Given the description of an element on the screen output the (x, y) to click on. 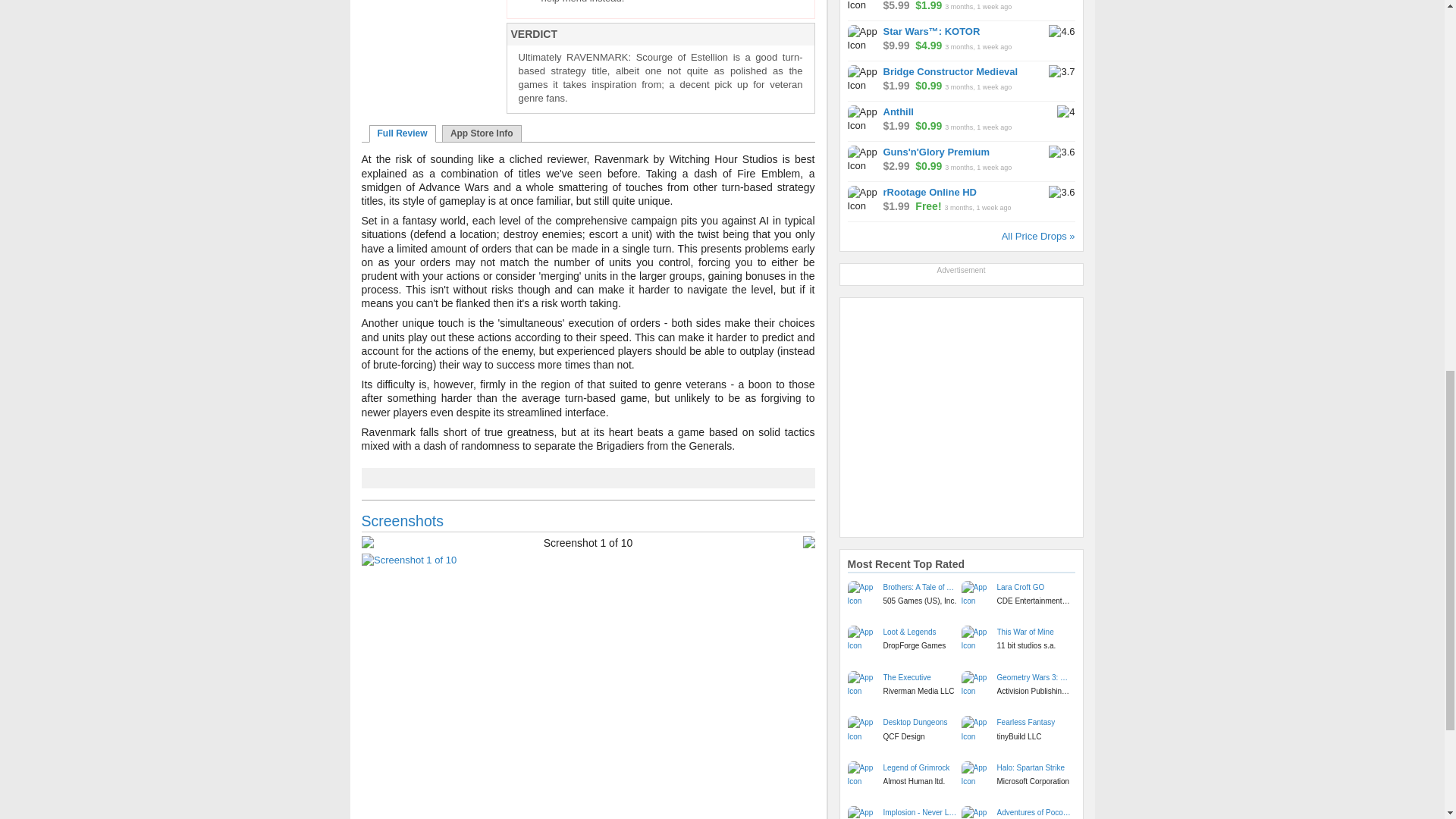
Screenshot 1 of 10 (587, 560)
